Given the description of an element on the screen output the (x, y) to click on. 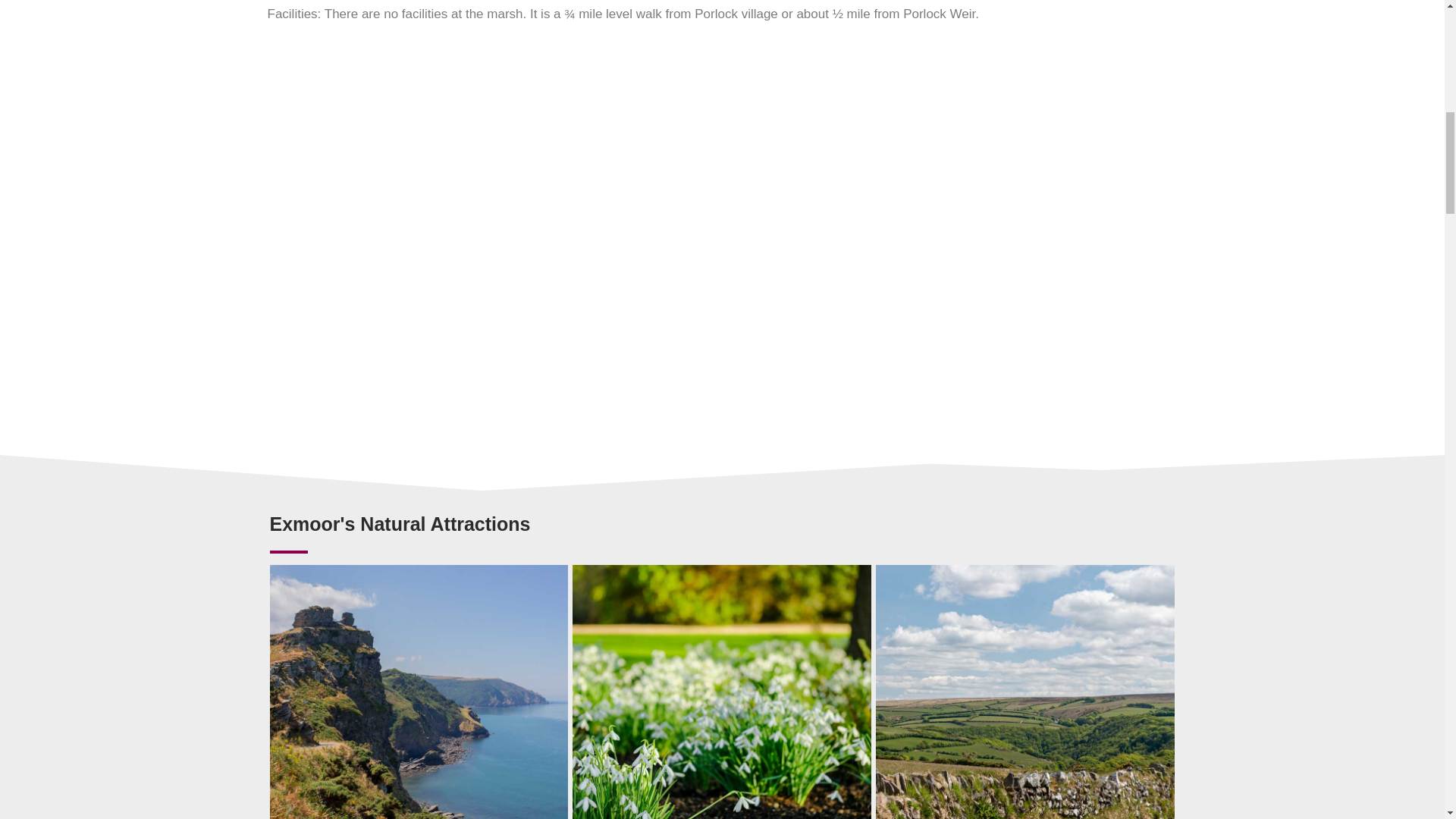
Snowdrop Valley (721, 692)
Valley of Rocks (419, 692)
County Gate (1025, 692)
